Given the description of an element on the screen output the (x, y) to click on. 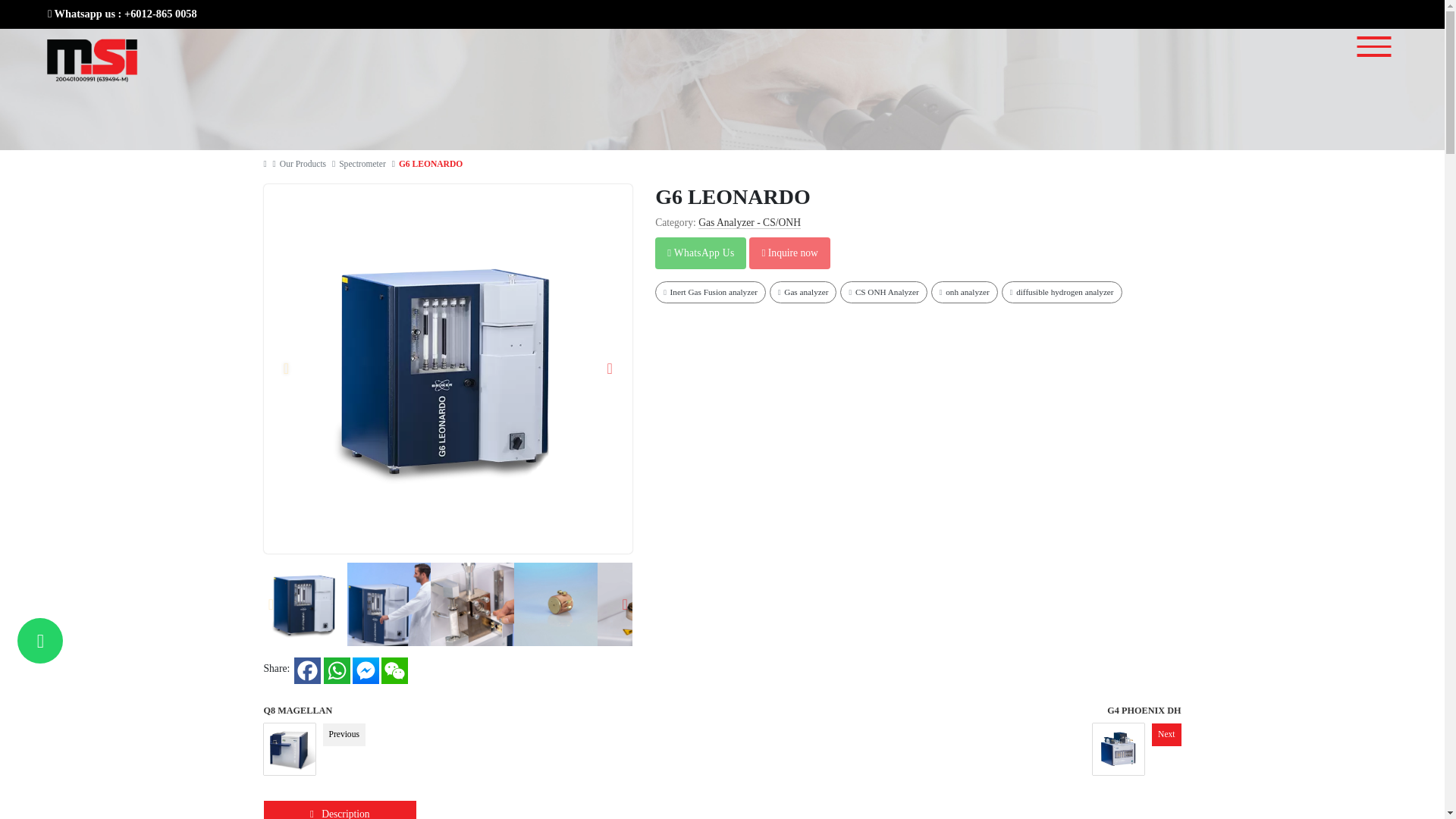
Next (624, 604)
Previous (286, 368)
Next (609, 368)
G6 LEONARDO (430, 163)
Inquire now (789, 253)
Previous (271, 604)
Our Products (304, 163)
Spectrometer (363, 163)
